Given the description of an element on the screen output the (x, y) to click on. 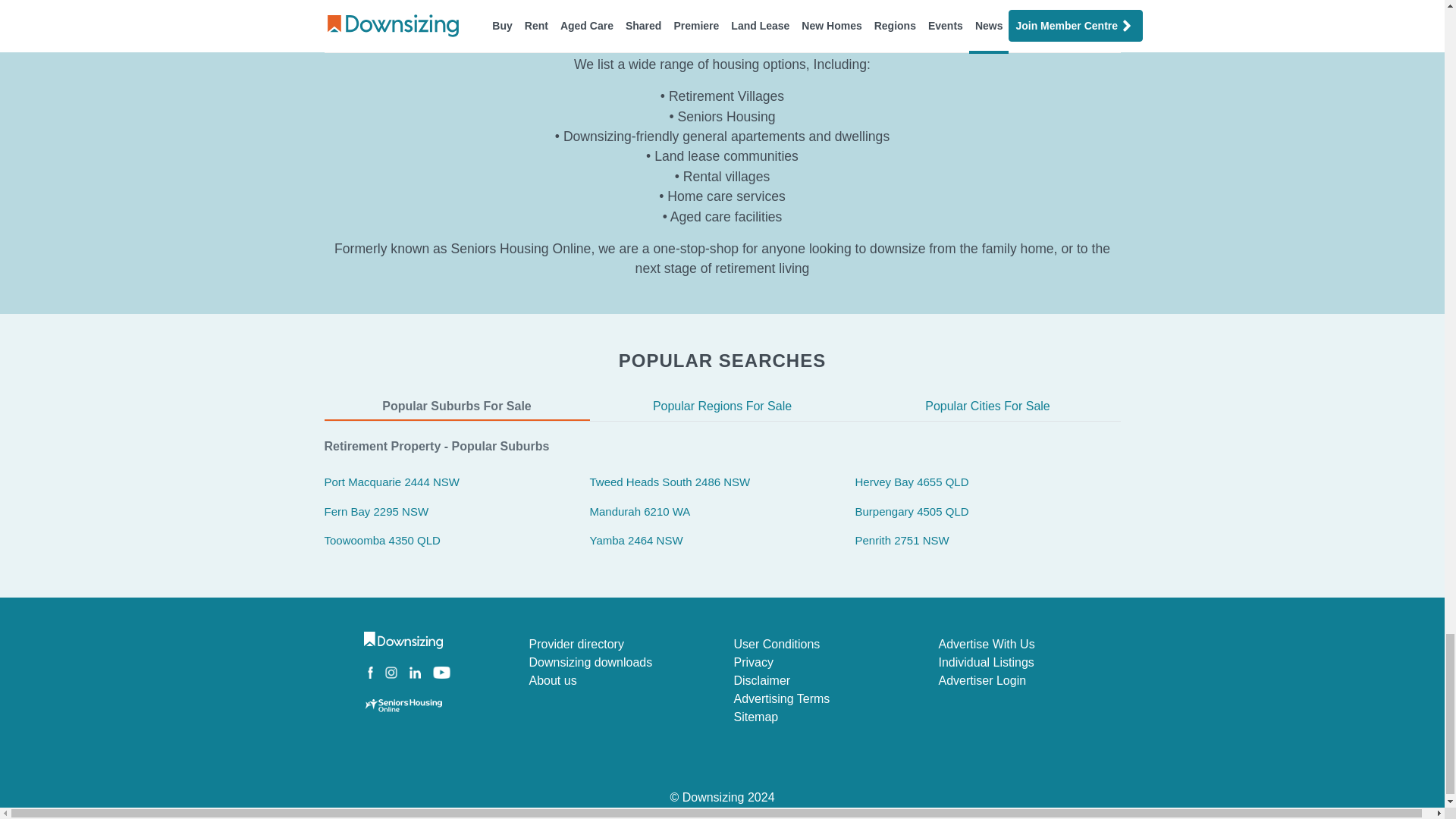
Downsizing (721, 797)
